Given the description of an element on the screen output the (x, y) to click on. 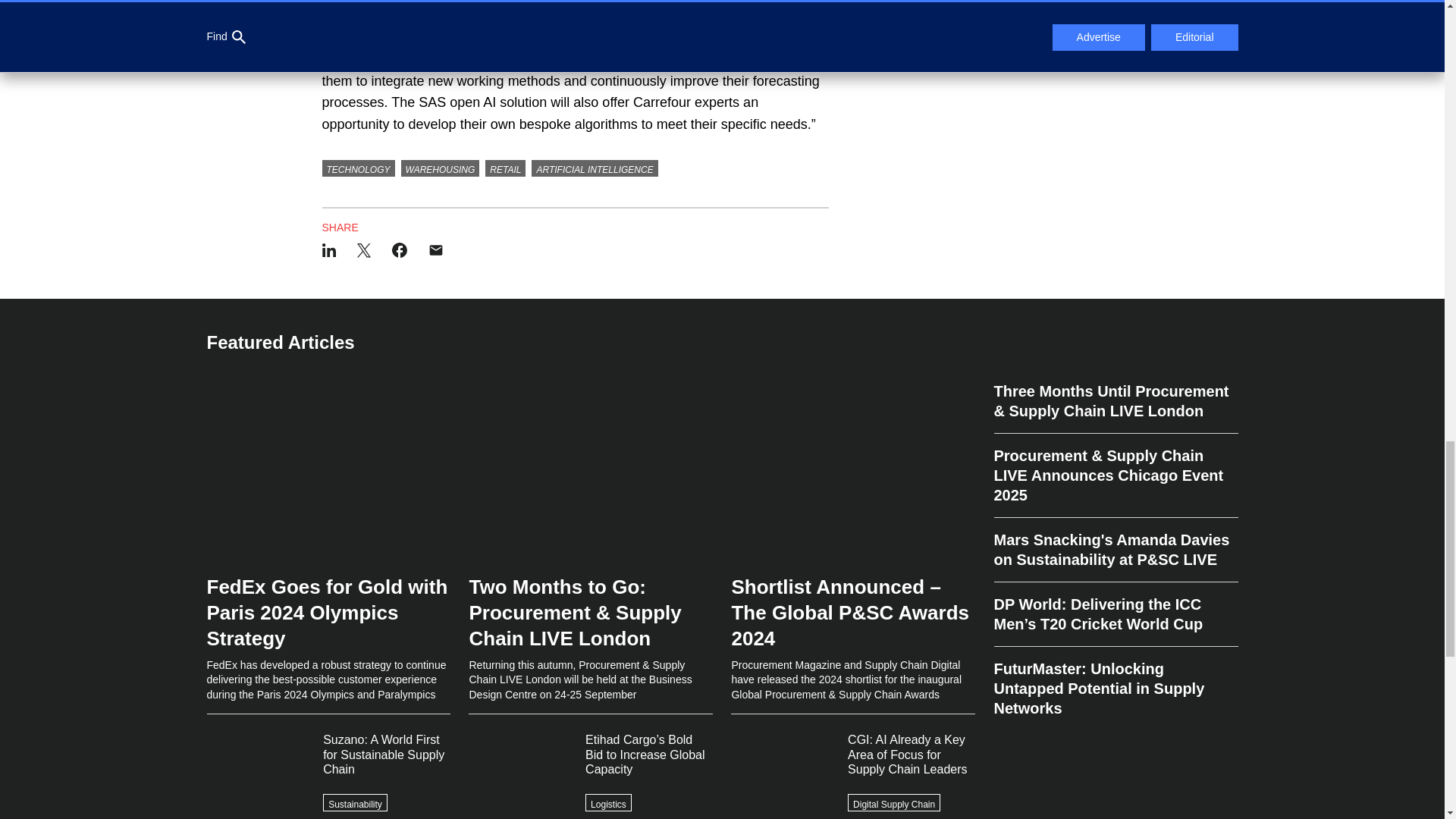
RETAIL (504, 167)
WAREHOUSING (440, 167)
TECHNOLOGY (357, 167)
FuturMaster: Unlocking Untapped Potential in Supply Networks (1114, 682)
ARTIFICIAL INTELLIGENCE (594, 167)
